Given the description of an element on the screen output the (x, y) to click on. 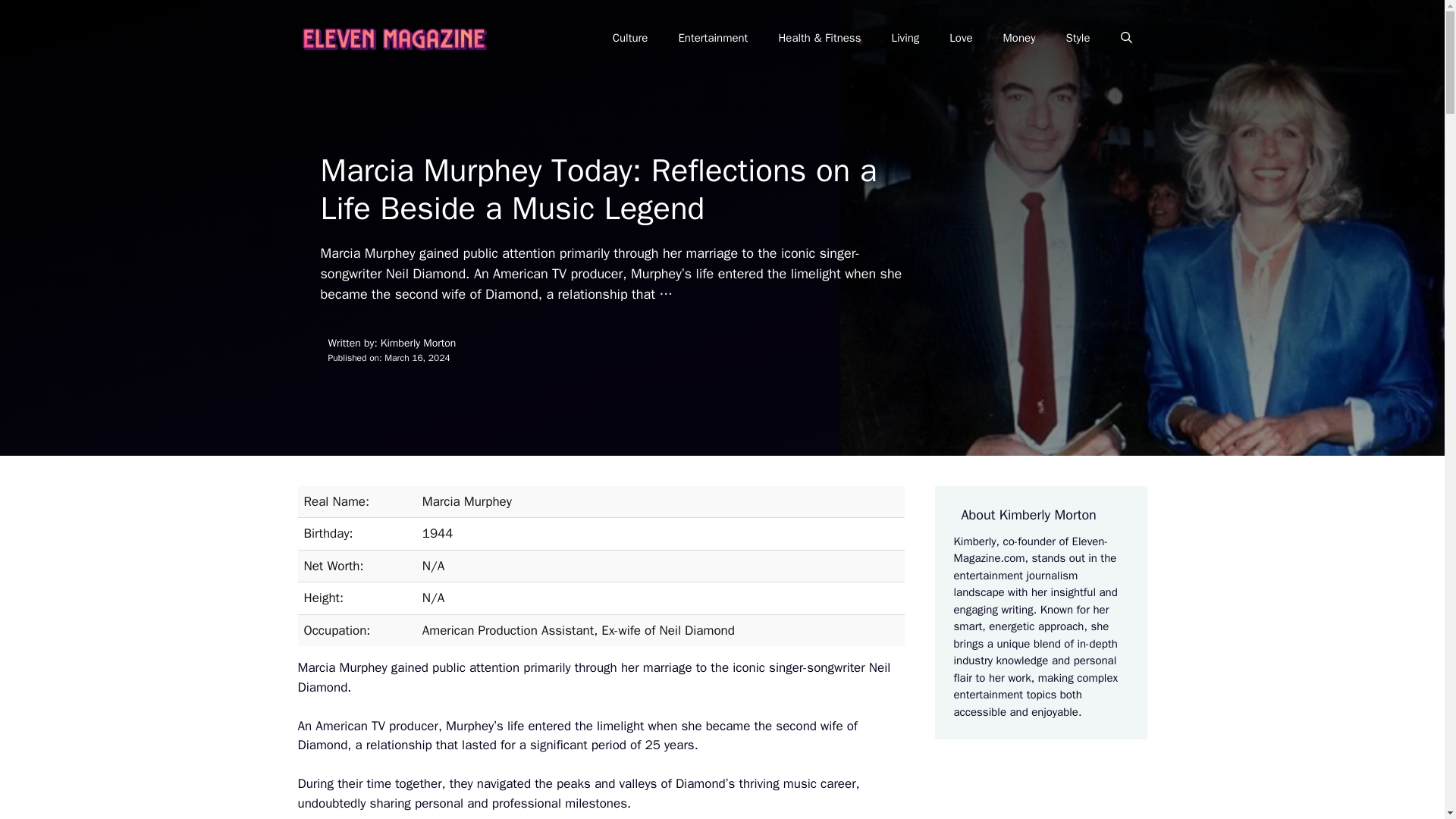
Living (905, 37)
Money (1019, 37)
Entertainment (712, 37)
Love (960, 37)
Culture (629, 37)
Style (1077, 37)
